Given the description of an element on the screen output the (x, y) to click on. 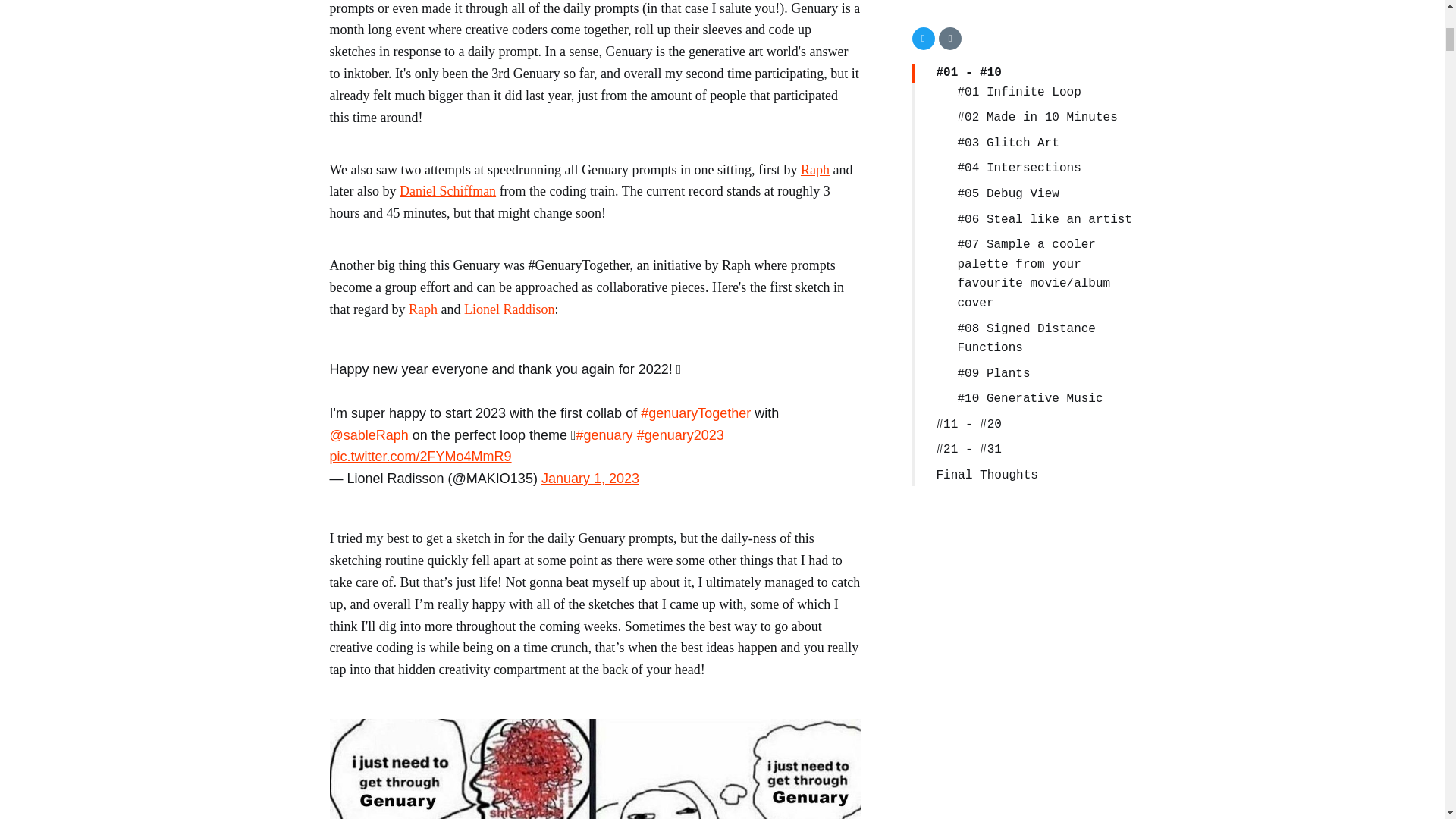
Lionel Raddison (509, 309)
Daniel Schiffman (447, 191)
Raph (814, 169)
January 1, 2023 (590, 478)
Raph (423, 309)
